Given the description of an element on the screen output the (x, y) to click on. 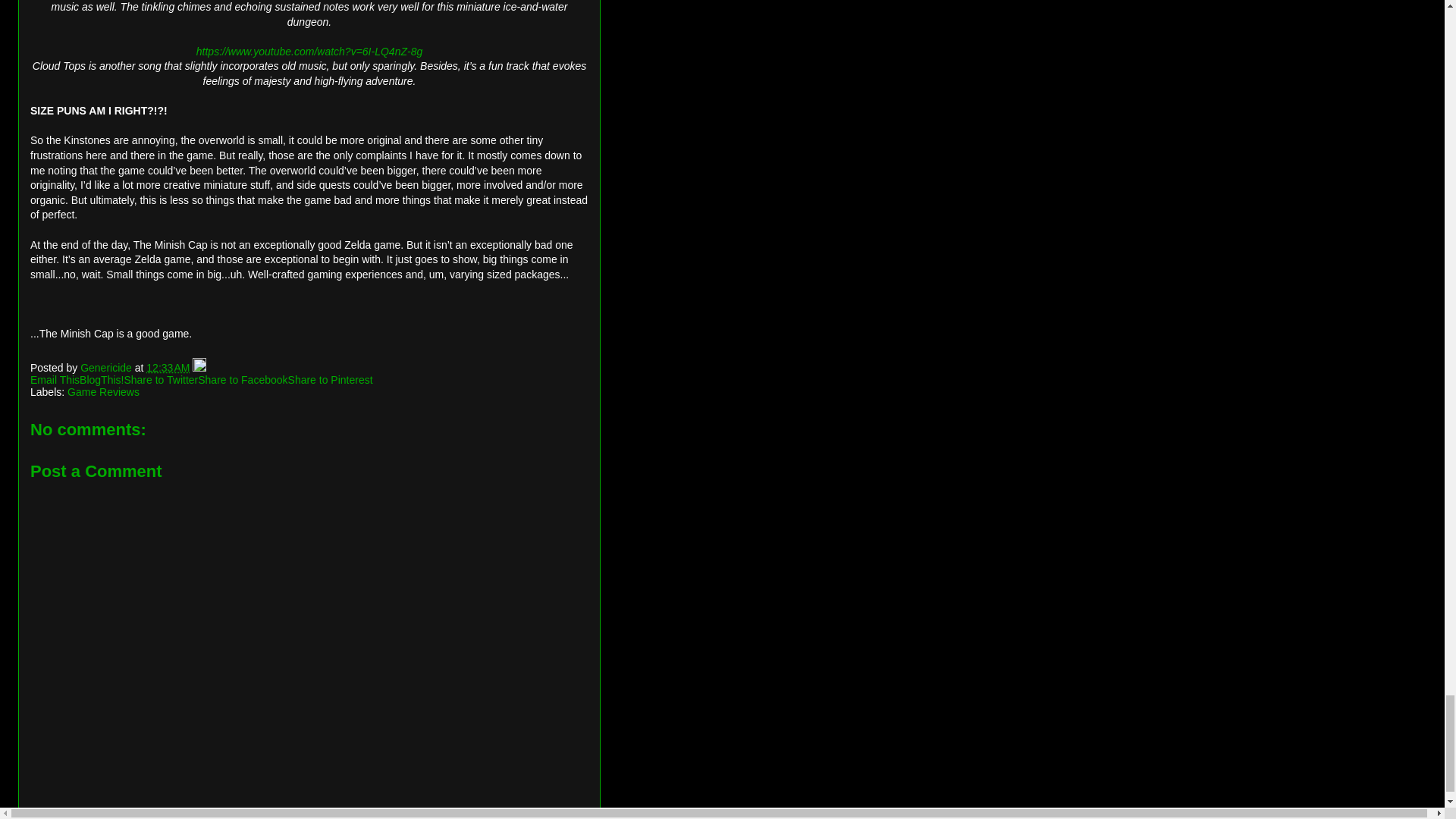
author profile (107, 367)
Share to Twitter (160, 379)
Email This (55, 379)
Share to Facebook (242, 379)
permanent link (168, 367)
Game Reviews (102, 391)
BlogThis! (101, 379)
Share to Facebook (242, 379)
Share to Pinterest (330, 379)
Share to Twitter (160, 379)
BlogThis! (101, 379)
Email This (55, 379)
Edit Post (199, 367)
Genericide (107, 367)
